Given the description of an element on the screen output the (x, y) to click on. 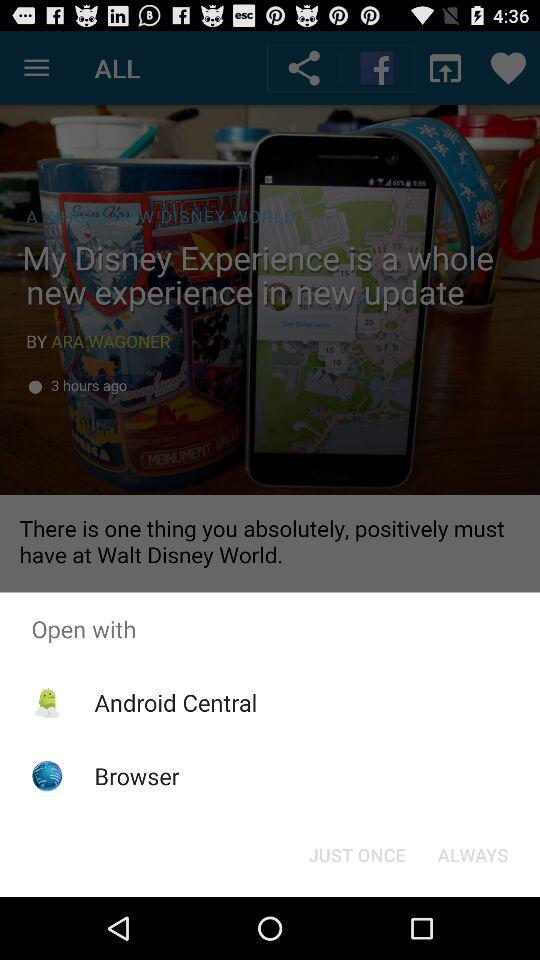
turn on button at the bottom right corner (472, 854)
